Given the description of an element on the screen output the (x, y) to click on. 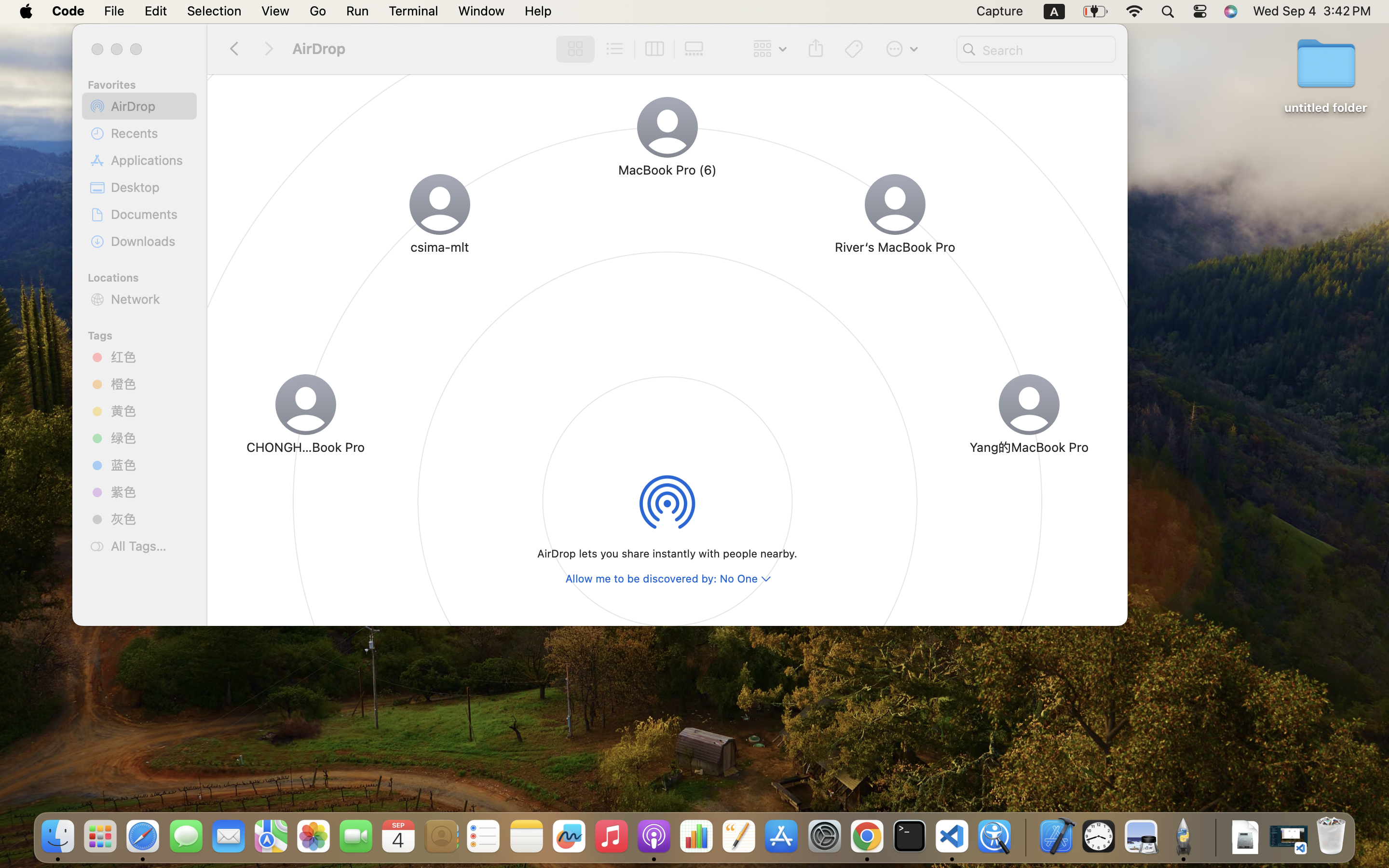
橙色 Element type: AXStaticText (149, 383)
Yang的MacBook Pro Element type: AXStaticText (1028, 446)
Applications Element type: AXStaticText (149, 159)
0.4285714328289032 Element type: AXDockItem (1024, 836)
Tags Element type: AXStaticText (144, 334)
